Given the description of an element on the screen output the (x, y) to click on. 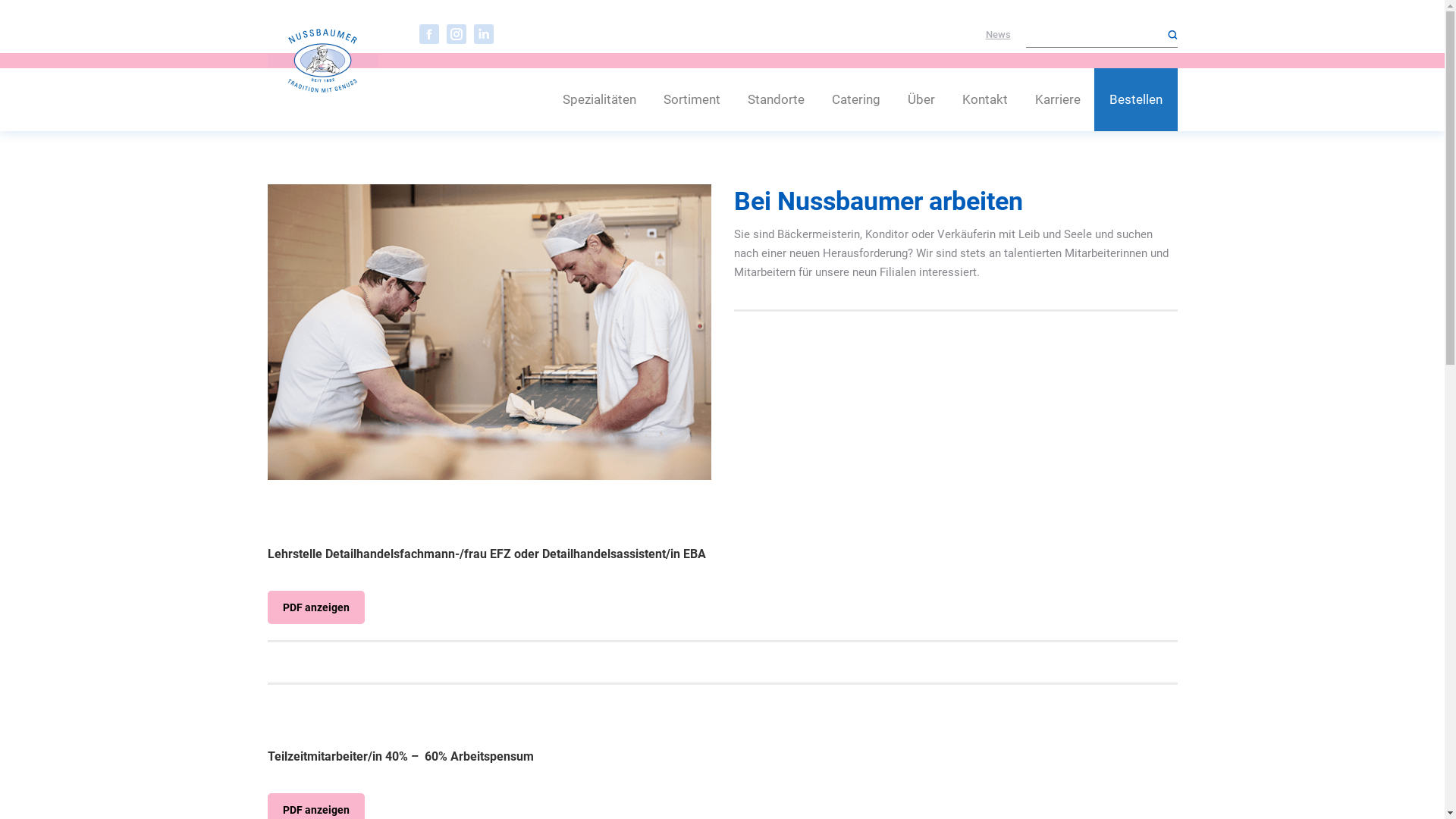
191209_NUBM_Final_Website_Jobs Element type: hover (488, 332)
Karriere Element type: text (1056, 99)
Search form Element type: hover (1100, 34)
Facebook page opens in new window Element type: text (428, 33)
Instagram page opens in new window Element type: text (455, 33)
Bestellen Element type: text (1134, 99)
Linkedin page opens in new window Element type: text (482, 33)
Kontakt Element type: text (984, 99)
Los! Element type: text (25, 16)
Sortiment Element type: text (690, 99)
PDF anzeigen Element type: text (315, 607)
Catering Element type: text (855, 99)
Standorte Element type: text (775, 99)
News Element type: text (997, 34)
